Given the description of an element on the screen output the (x, y) to click on. 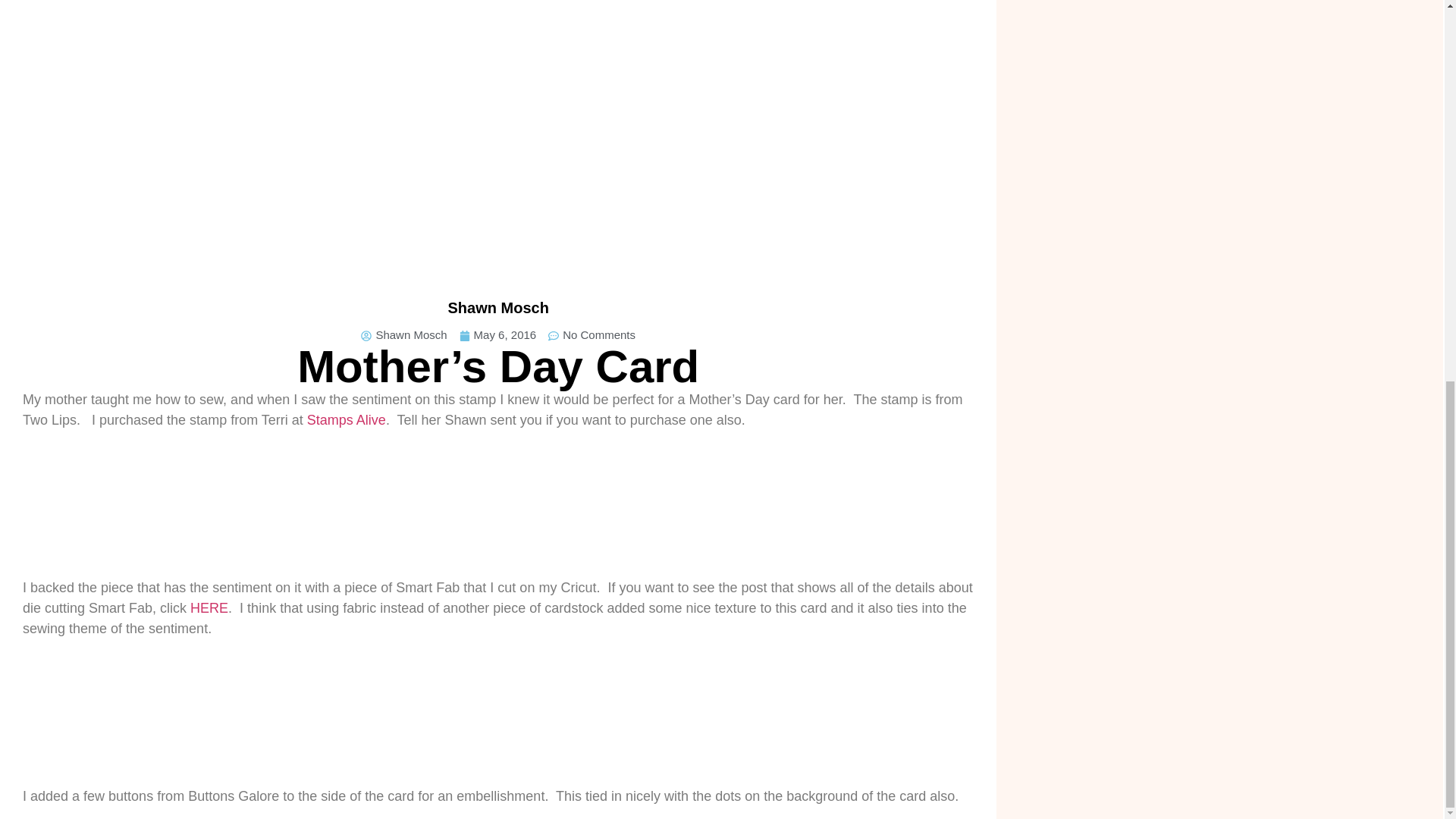
Stamps Alive (346, 419)
HERE (209, 607)
Shawn Mosch (403, 334)
No Comments (591, 334)
May 6, 2016 (498, 334)
